Given the description of an element on the screen output the (x, y) to click on. 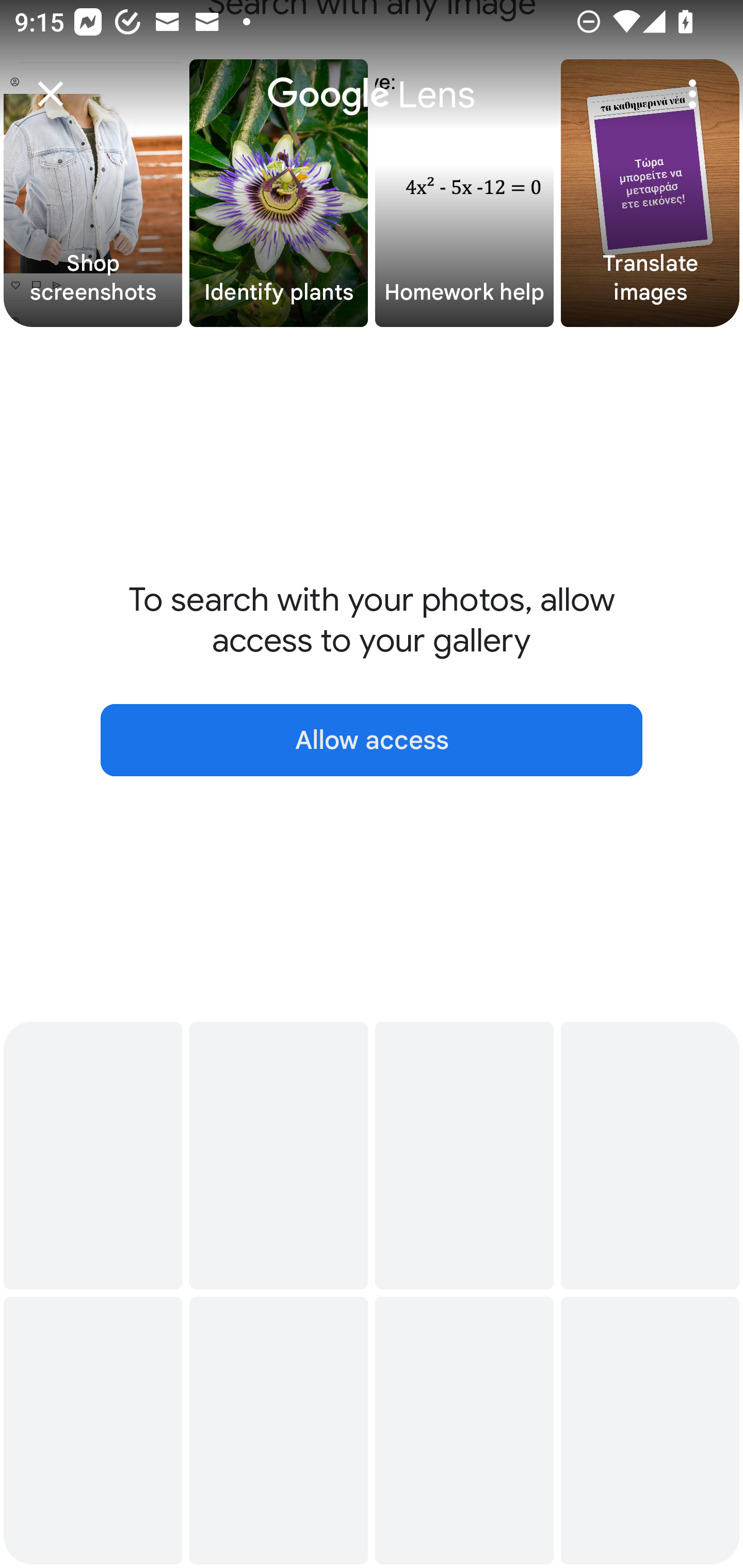
Close (50, 94)
More options (692, 94)
Shop screenshots (92, 193)
Identify plants (278, 193)
Homework help (464, 193)
Translate images (649, 193)
Allow access (371, 740)
